Given the description of an element on the screen output the (x, y) to click on. 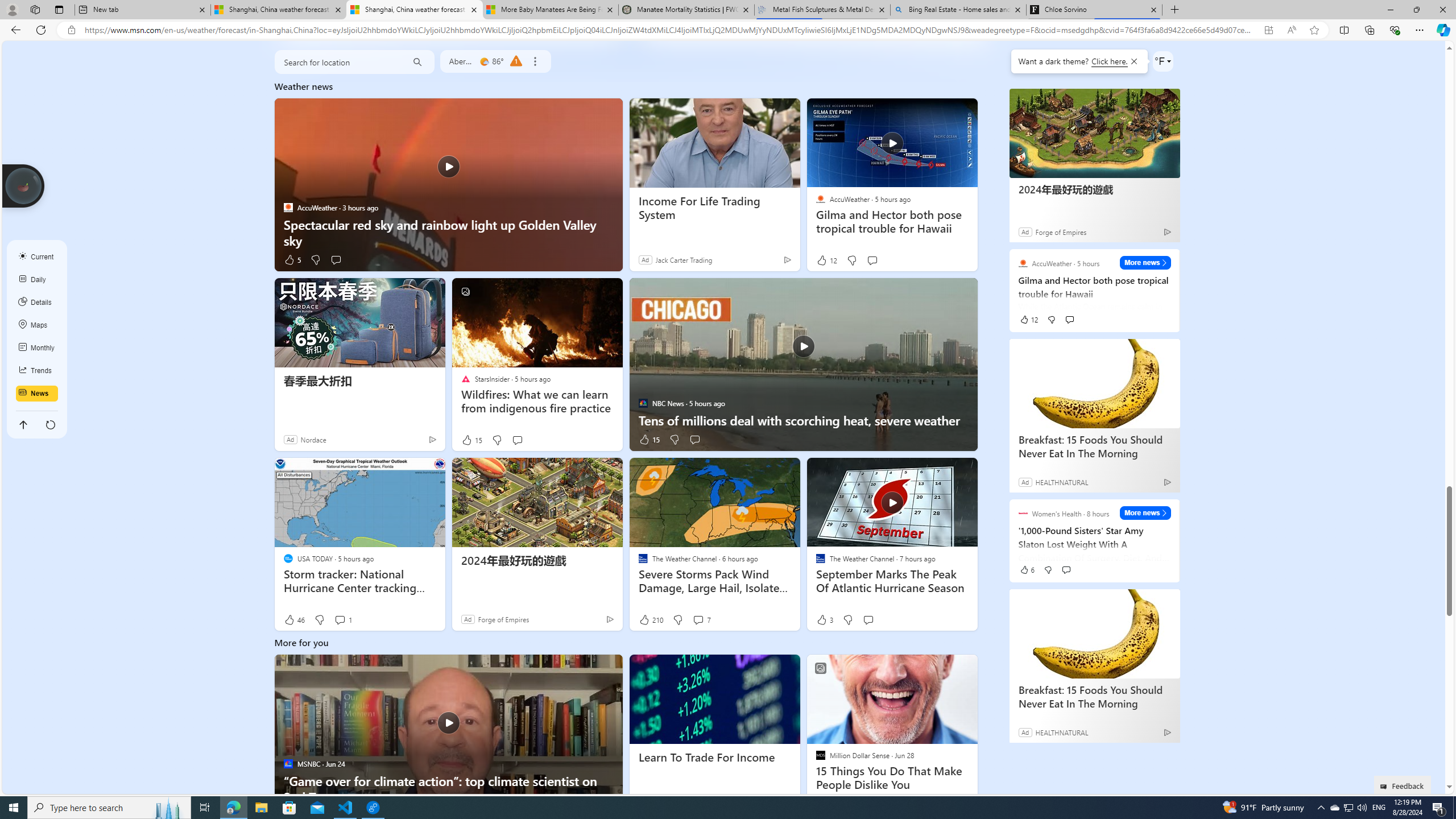
Maps (37, 325)
Breakfast: 15 Foods You Should Never Eat In The Morning (1094, 633)
Chloe Sorvino (1094, 9)
Gilma and Hector both pose tropical trouble for Hawaii (891, 221)
September Marks The Peak Of Atlantic Hurricane Season (891, 501)
AccuWeather (820, 198)
46 Like (293, 619)
Weather settings Want a dark theme?Click here. (1162, 61)
5 Like (291, 259)
